Given the description of an element on the screen output the (x, y) to click on. 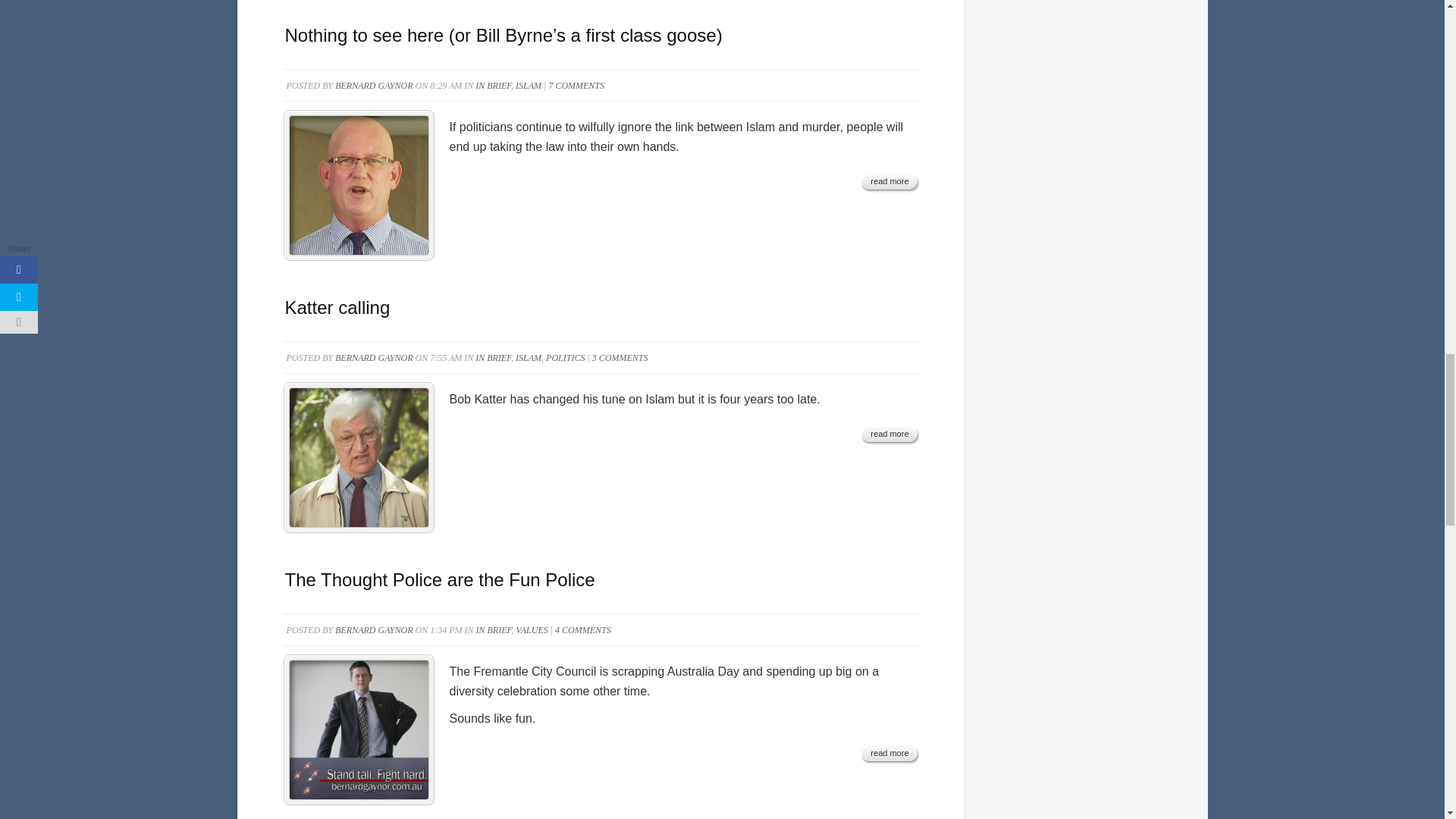
Posts by Bernard Gaynor (373, 85)
Posts by Bernard Gaynor (373, 629)
Posts by Bernard Gaynor (373, 357)
